Given the description of an element on the screen output the (x, y) to click on. 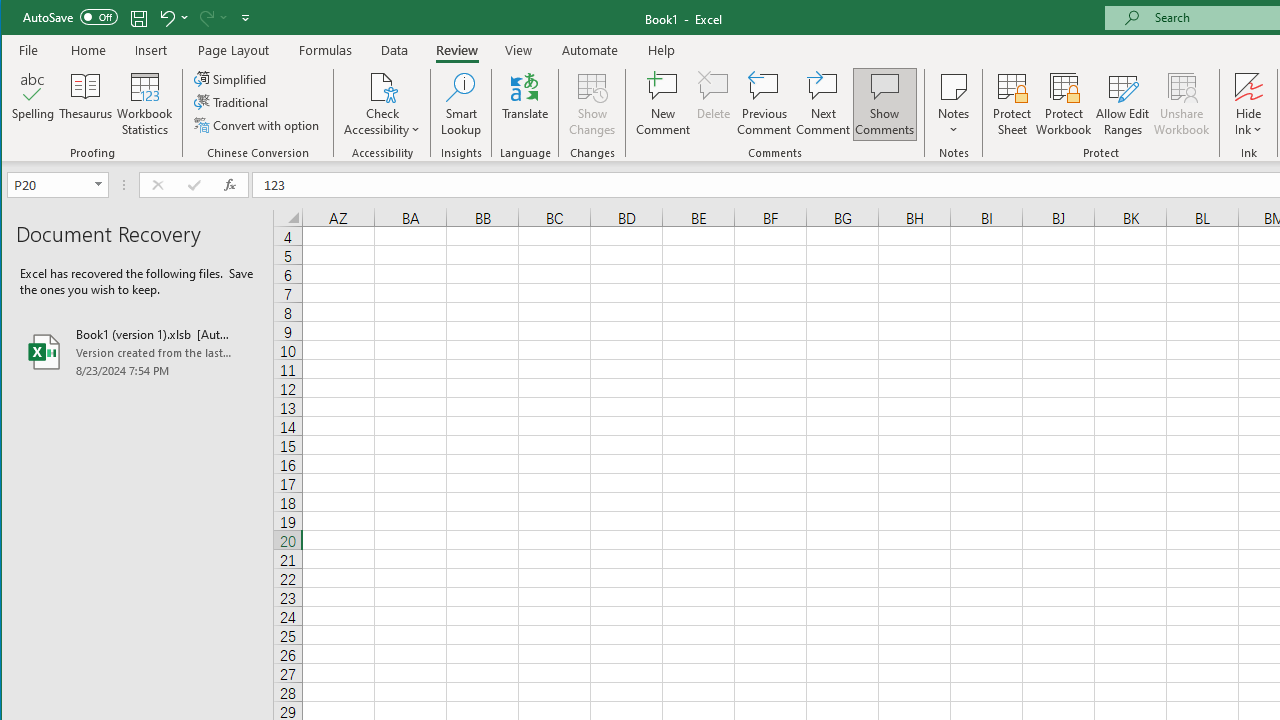
Convert with option (258, 124)
Previous Comment (763, 104)
Protect Sheet... (1012, 104)
Simplified (231, 78)
Hide Ink (1248, 86)
Unshare Workbook (1182, 104)
Show Comments (884, 104)
Workbook Statistics (145, 104)
